Given the description of an element on the screen output the (x, y) to click on. 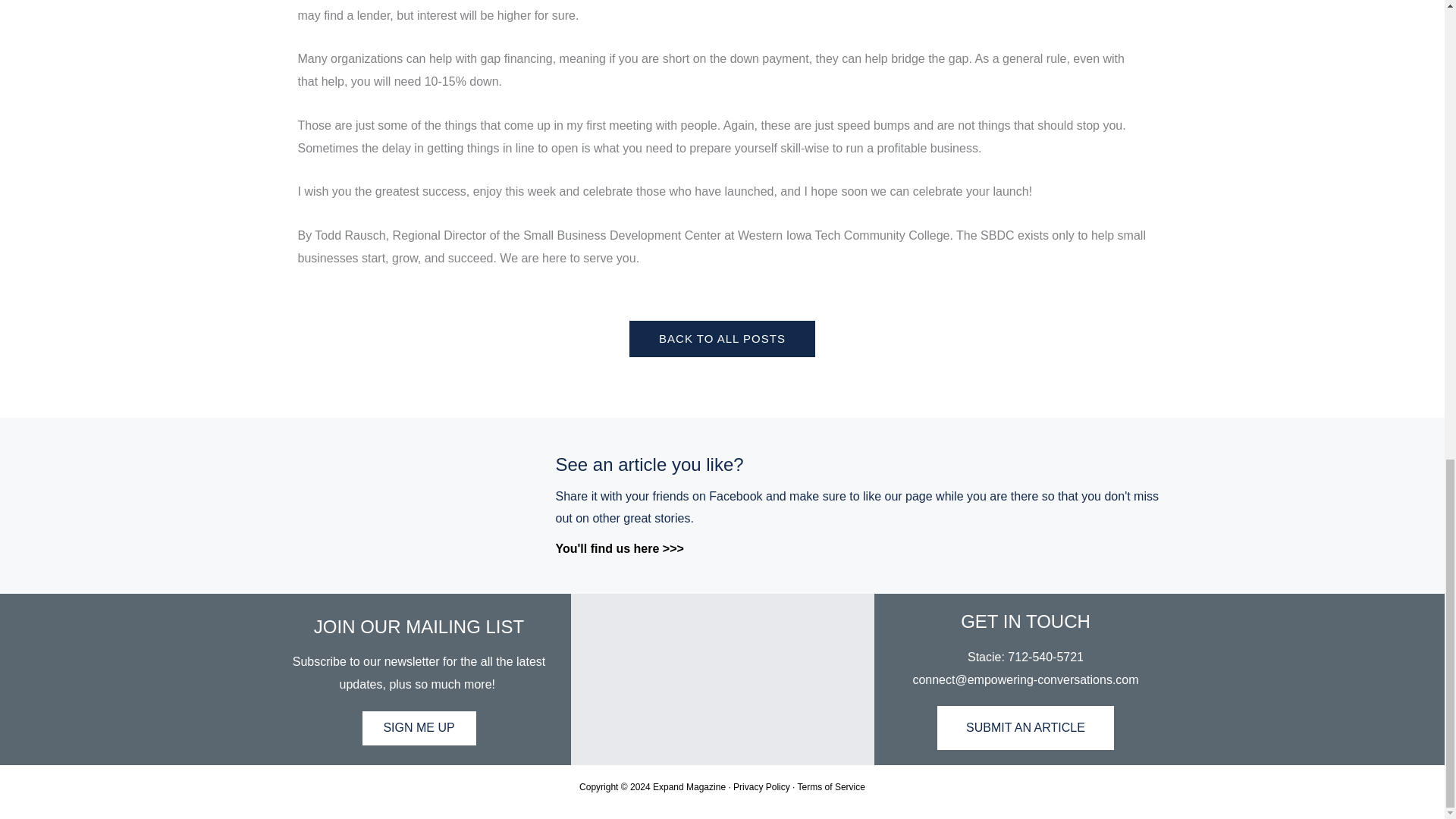
FB share like icon (404, 505)
SIGN ME UP (419, 728)
SUBMIT AN ARTICLE (1025, 727)
Click Here (721, 339)
712-540-5721 (1045, 656)
Click Here (419, 728)
Terms of Service (830, 787)
Privacy Policy (761, 787)
BACK TO ALL POSTS (721, 339)
